Given the description of an element on the screen output the (x, y) to click on. 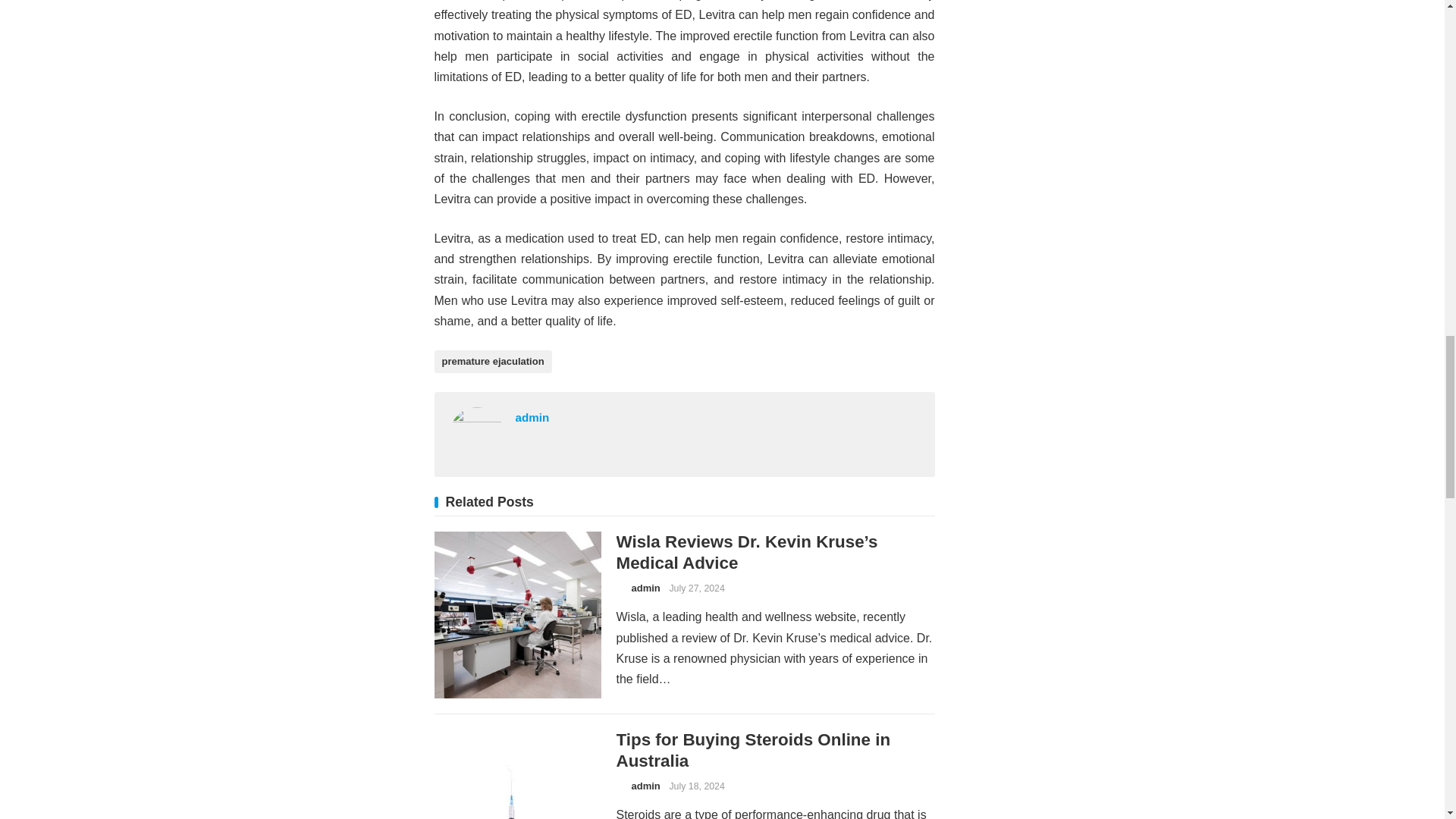
Posts by admin (644, 587)
admin (644, 587)
Posts by admin (644, 785)
admin (532, 417)
Tips for Buying Steroids Online in Australia (752, 750)
admin (644, 785)
premature ejaculation (492, 361)
